Given the description of an element on the screen output the (x, y) to click on. 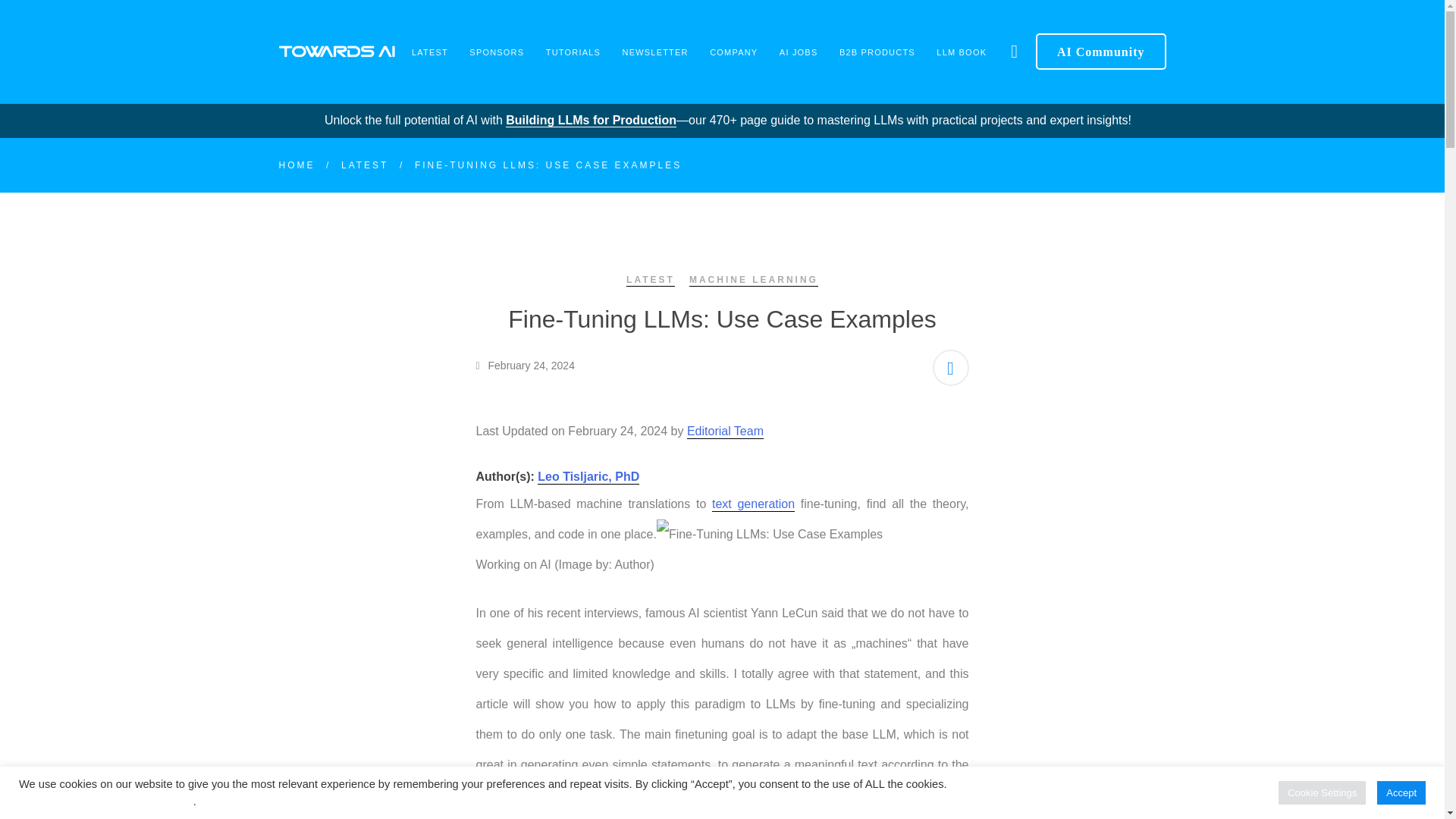
LATEST (430, 52)
